Given the description of an element on the screen output the (x, y) to click on. 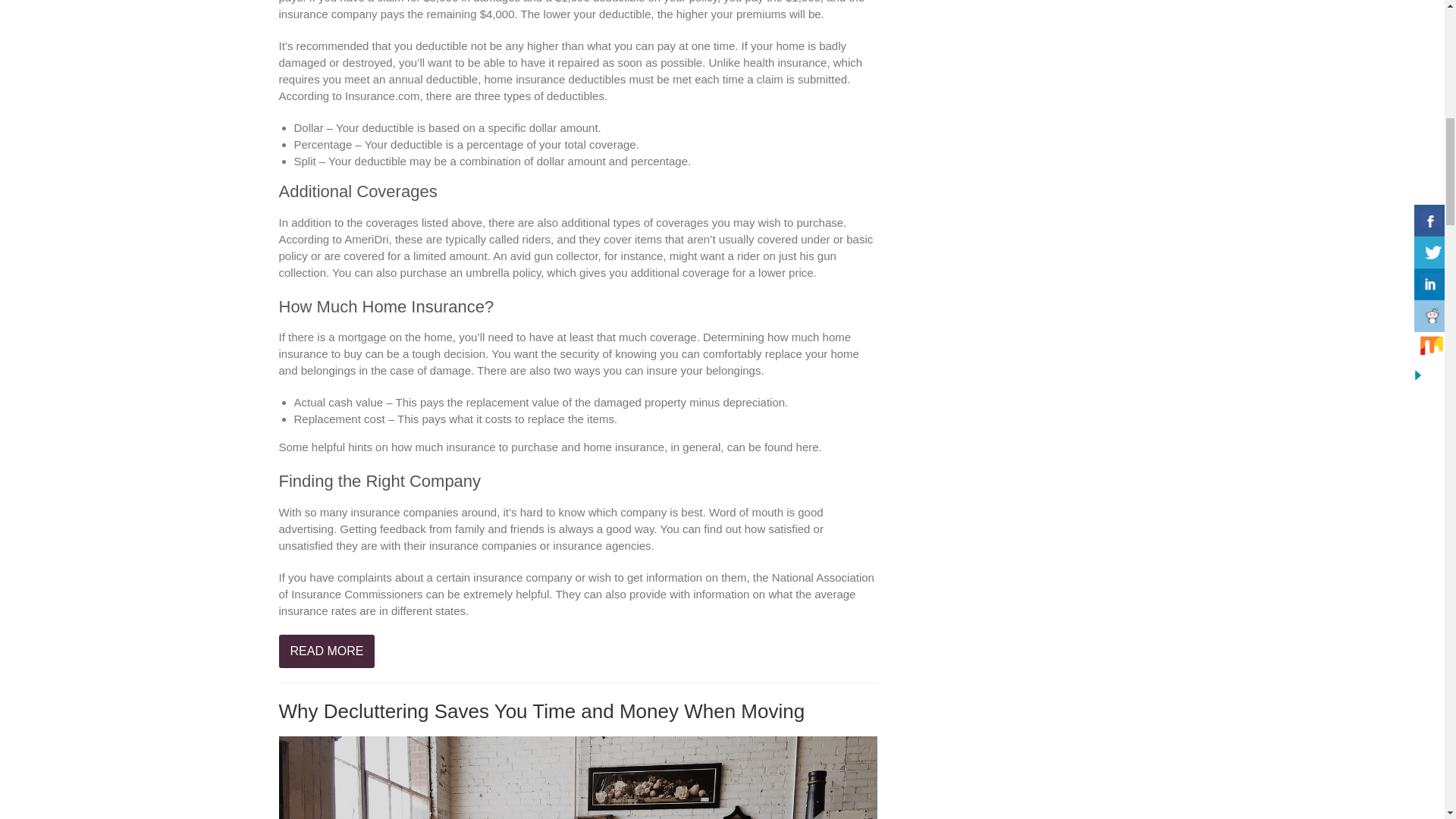
National Association of Insurance Commissioners (577, 585)
Percentage (323, 144)
READ MORE (327, 651)
Why Decluttering Saves You Time and Money When Moving (542, 711)
Insurance.com (382, 95)
AmeriDri (365, 238)
